Given the description of an element on the screen output the (x, y) to click on. 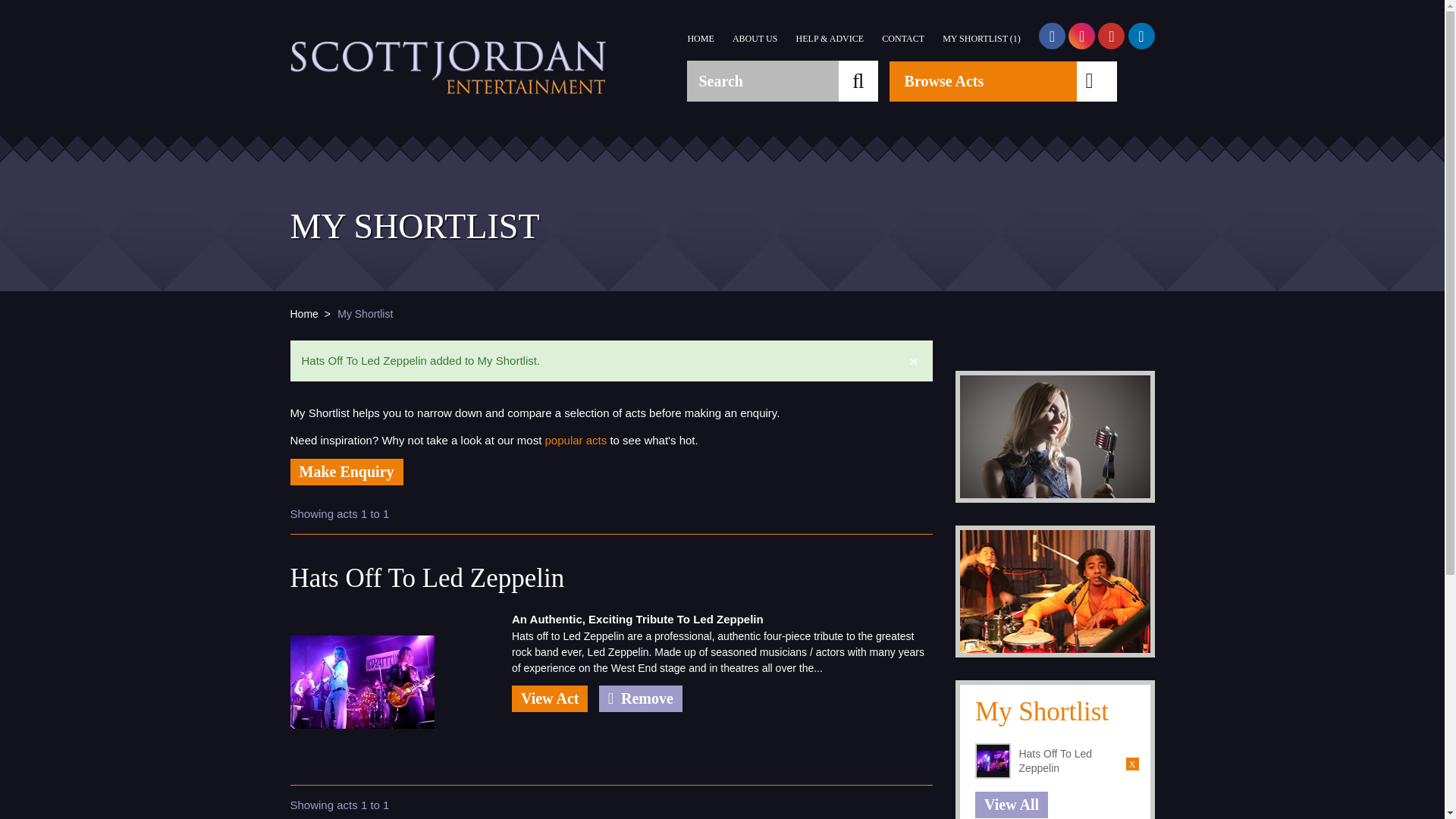
ABOUT US (754, 38)
CONTACT (903, 38)
HOME (700, 38)
